Given the description of an element on the screen output the (x, y) to click on. 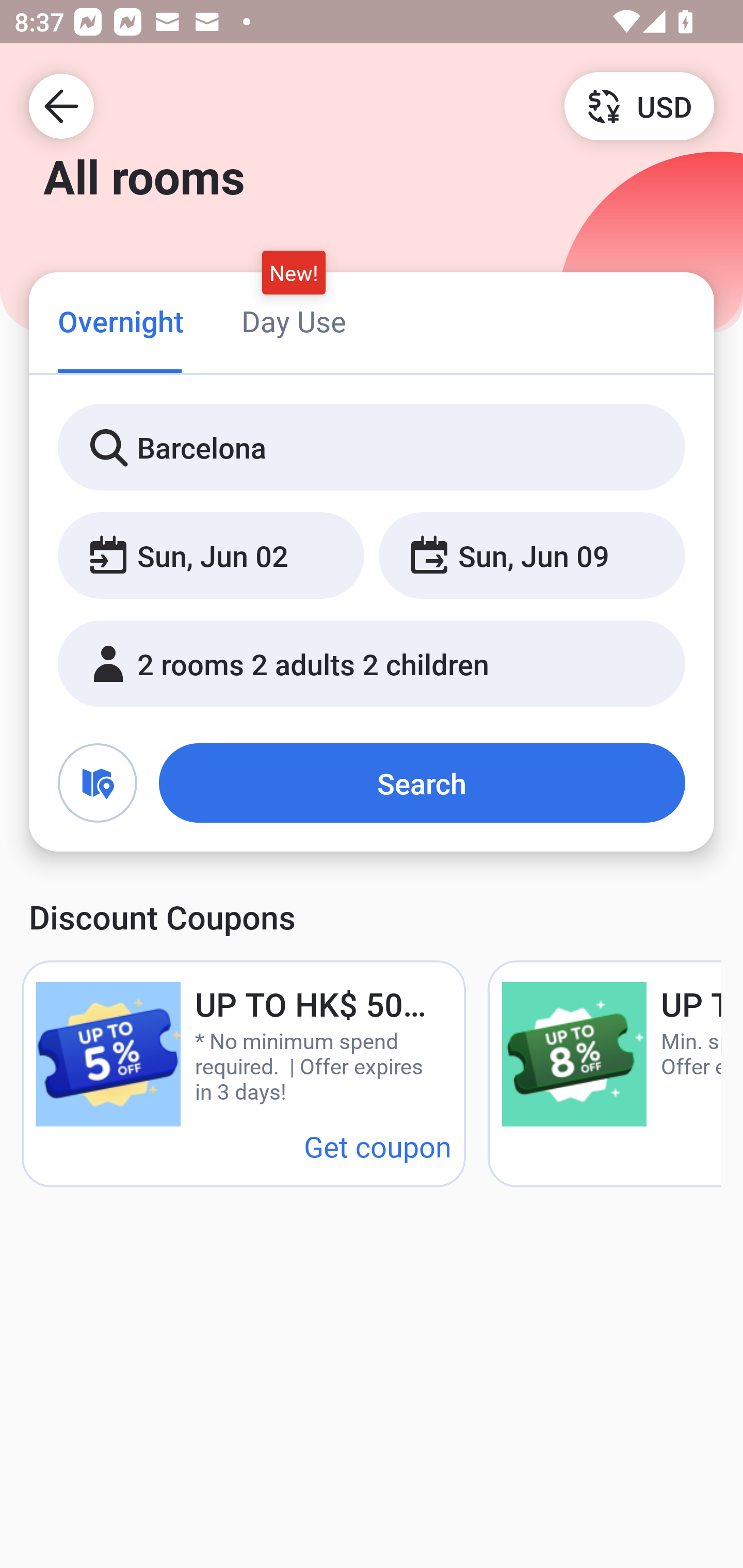
USD (639, 105)
New! (294, 272)
Day Use (293, 321)
Barcelona (371, 447)
Sun, Jun 02 (210, 555)
Sun, Jun 09 (531, 555)
2 rooms 2 adults 2 children (371, 663)
Search (422, 783)
Get coupon (377, 1146)
